Given the description of an element on the screen output the (x, y) to click on. 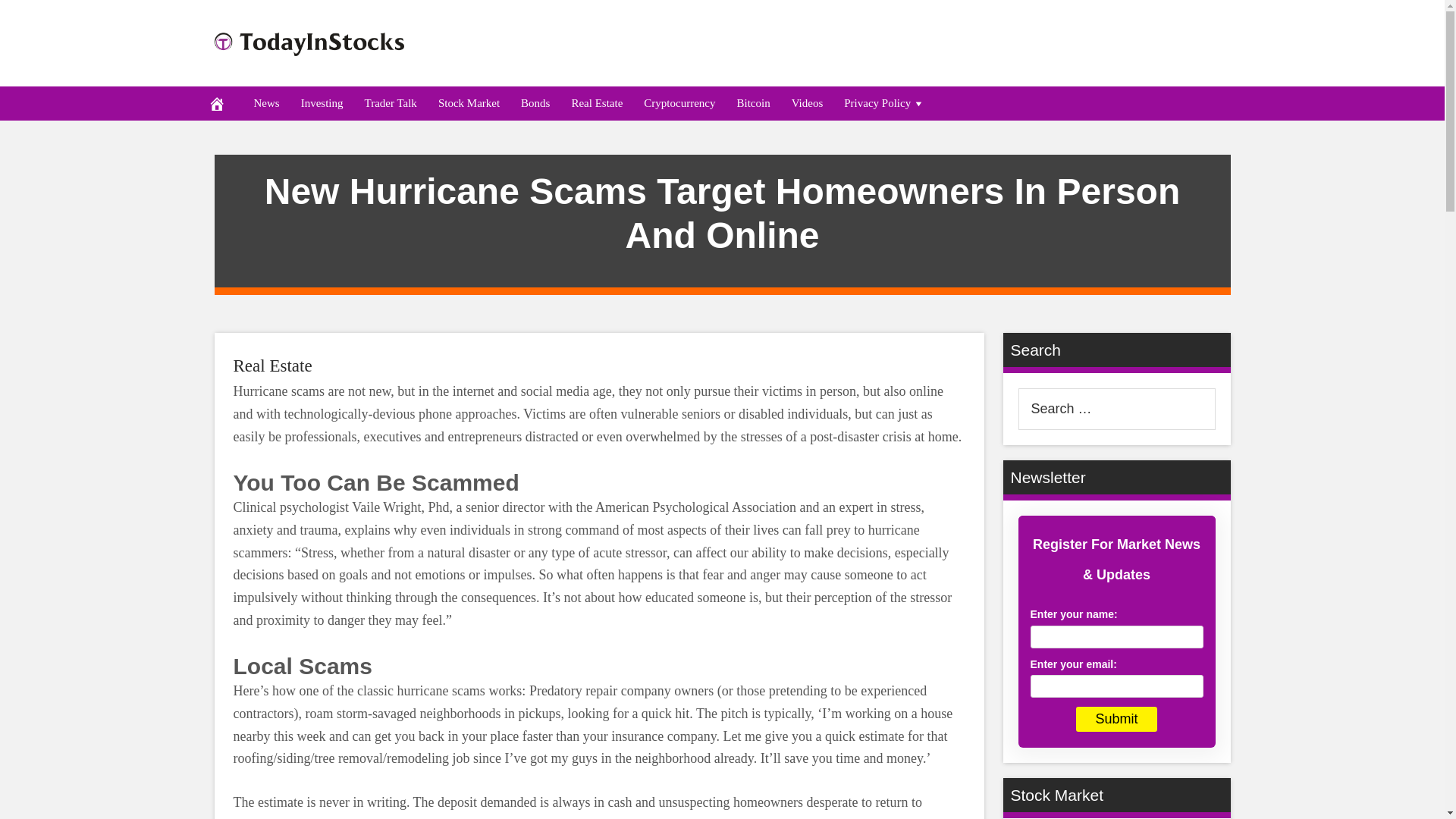
Trader Talk (389, 103)
Bitcoin (752, 103)
Real Estate (272, 365)
Cryptocurrency (679, 103)
News (266, 103)
Real Estate (272, 365)
Videos (807, 103)
Investing (321, 103)
Privacy Policy (884, 103)
